Given the description of an element on the screen output the (x, y) to click on. 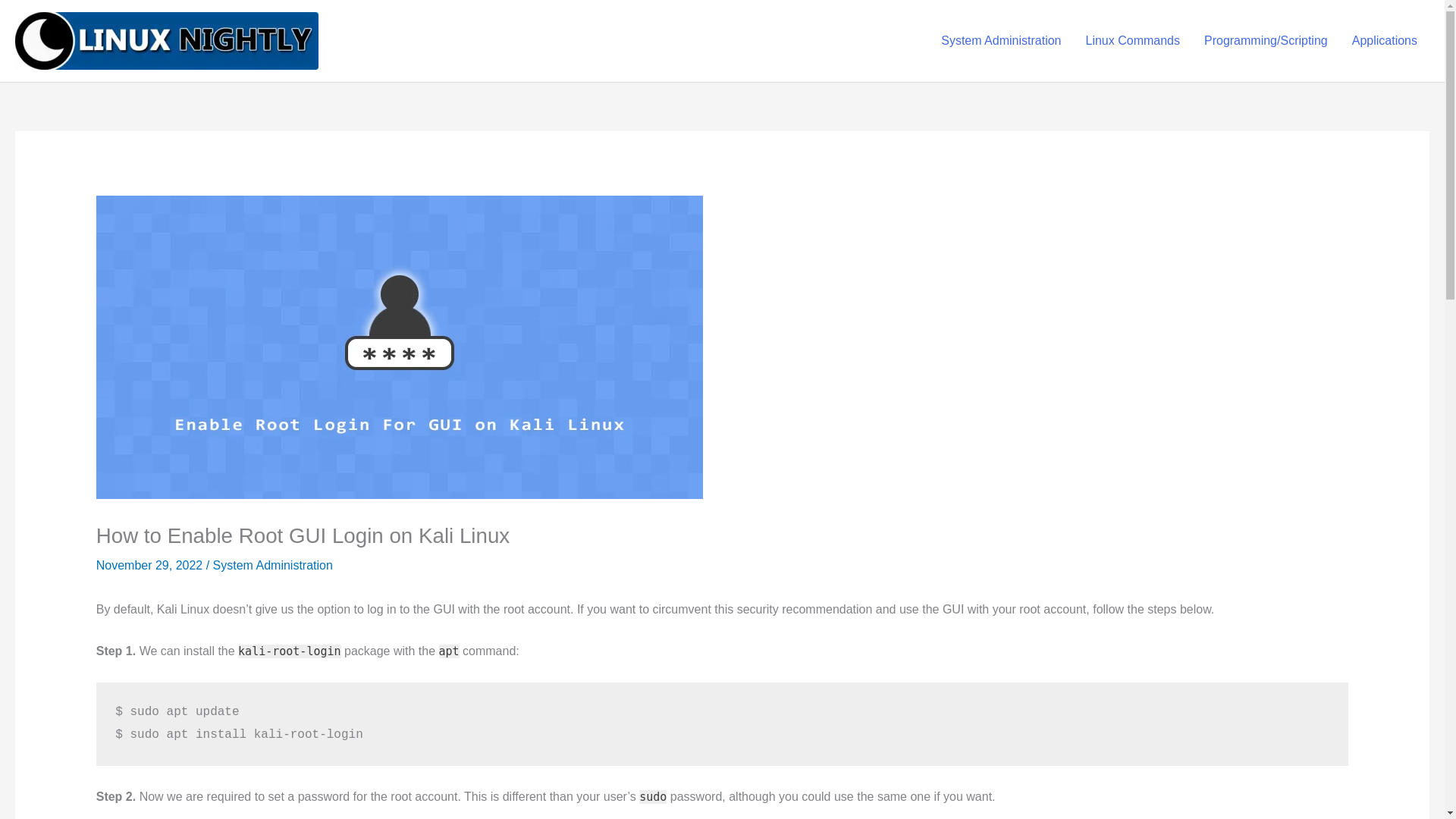
Applications (1384, 40)
System Administration (272, 564)
Linux Commands (1132, 40)
System Administration (1000, 40)
